Given the description of an element on the screen output the (x, y) to click on. 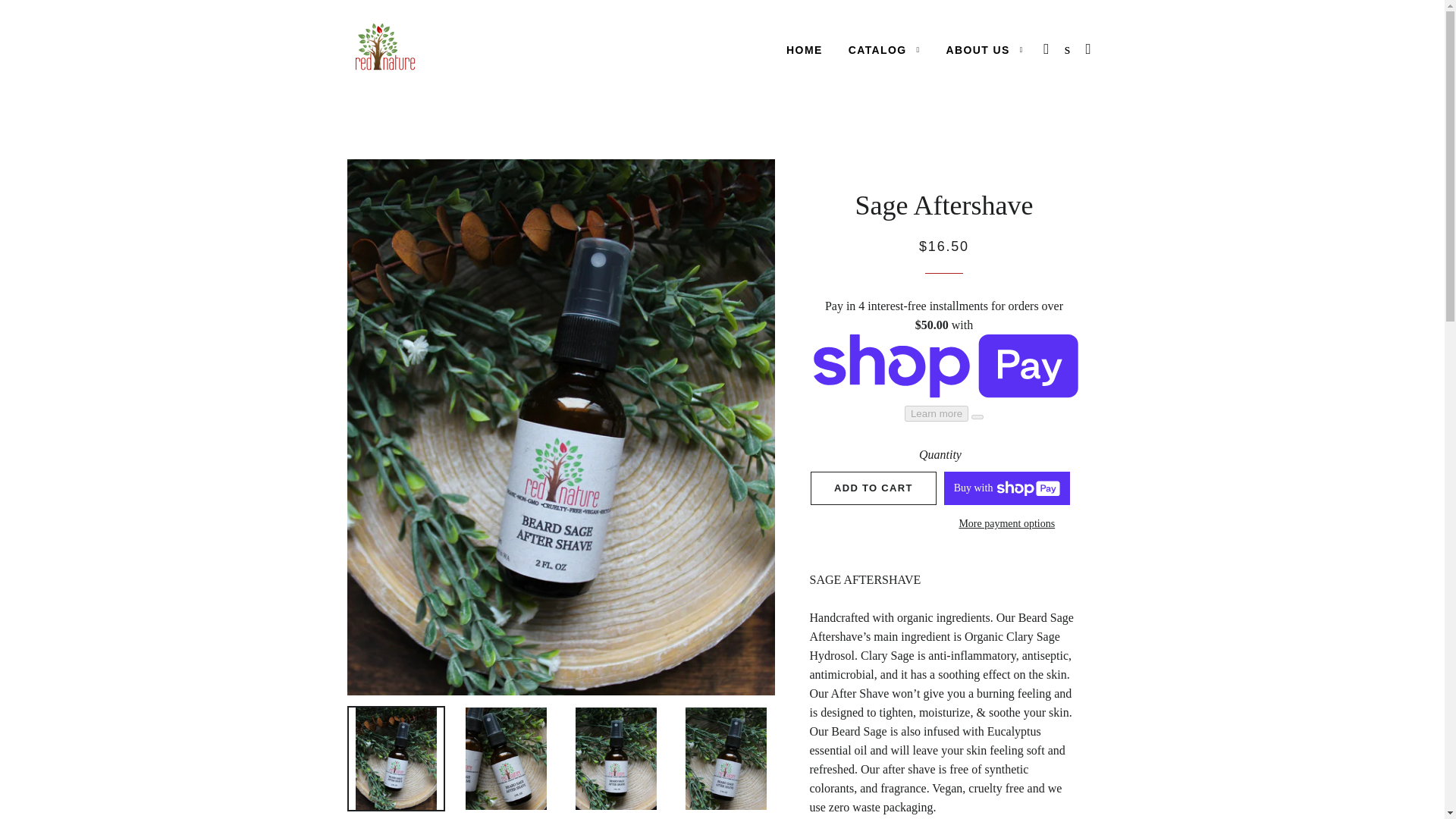
ABOUT US (984, 50)
HOME (804, 50)
CATALOG (884, 50)
ADD TO CART (873, 488)
More payment options (1006, 523)
